Given the description of an element on the screen output the (x, y) to click on. 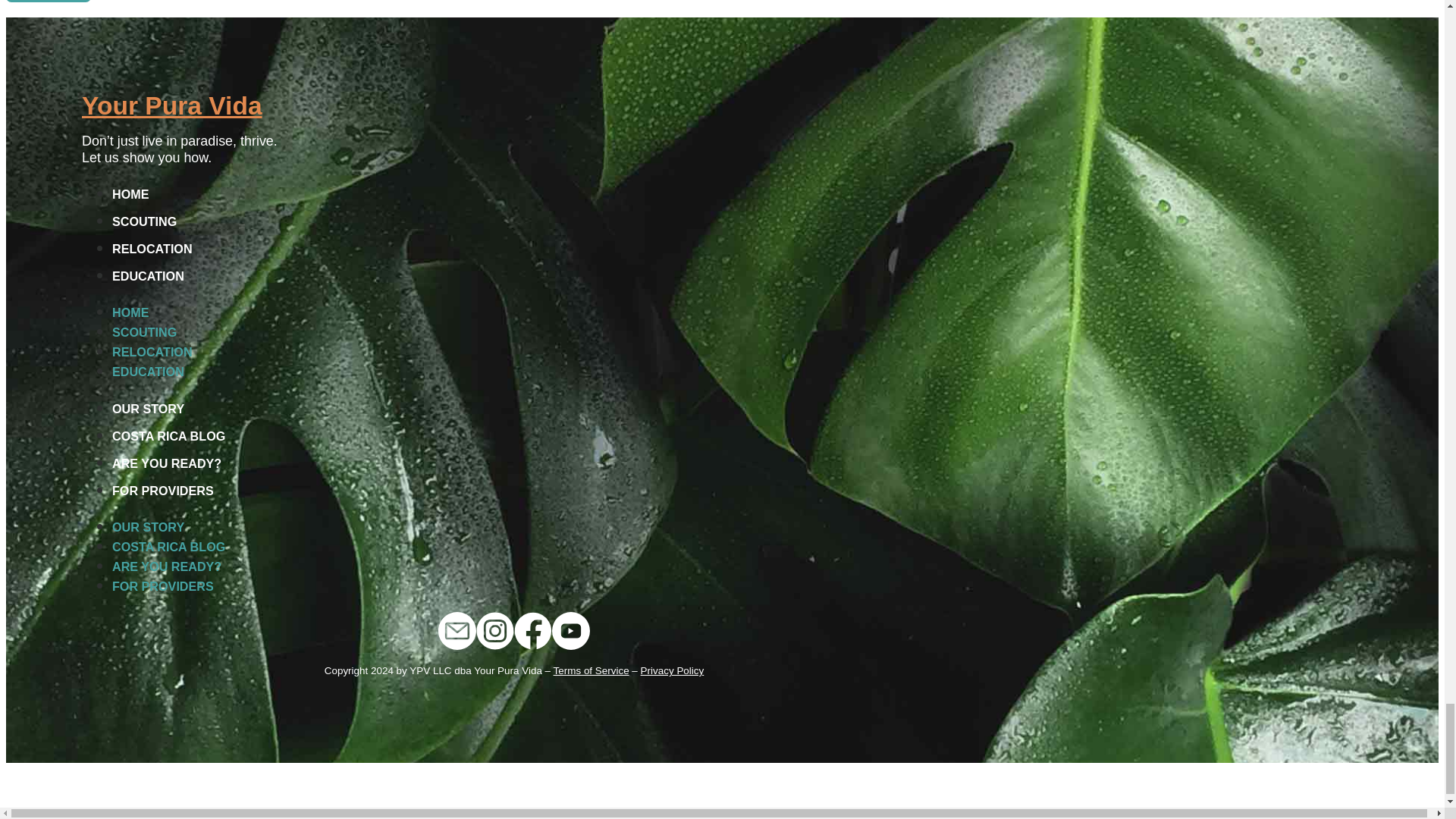
OUR STORY (148, 407)
HOME (130, 193)
HOME (130, 312)
SCOUTING (144, 332)
EDUCATION (148, 275)
EDUCATION (148, 371)
COSTA RICA BLOG (168, 435)
SCOUTING (144, 221)
RELOCATION (152, 248)
Say hello! (47, 1)
Your Pura Vida (171, 105)
RELOCATION (152, 351)
OUR STORY (148, 526)
ARE YOU READY? (166, 462)
ARE YOU READY? (166, 566)
